Given the description of an element on the screen output the (x, y) to click on. 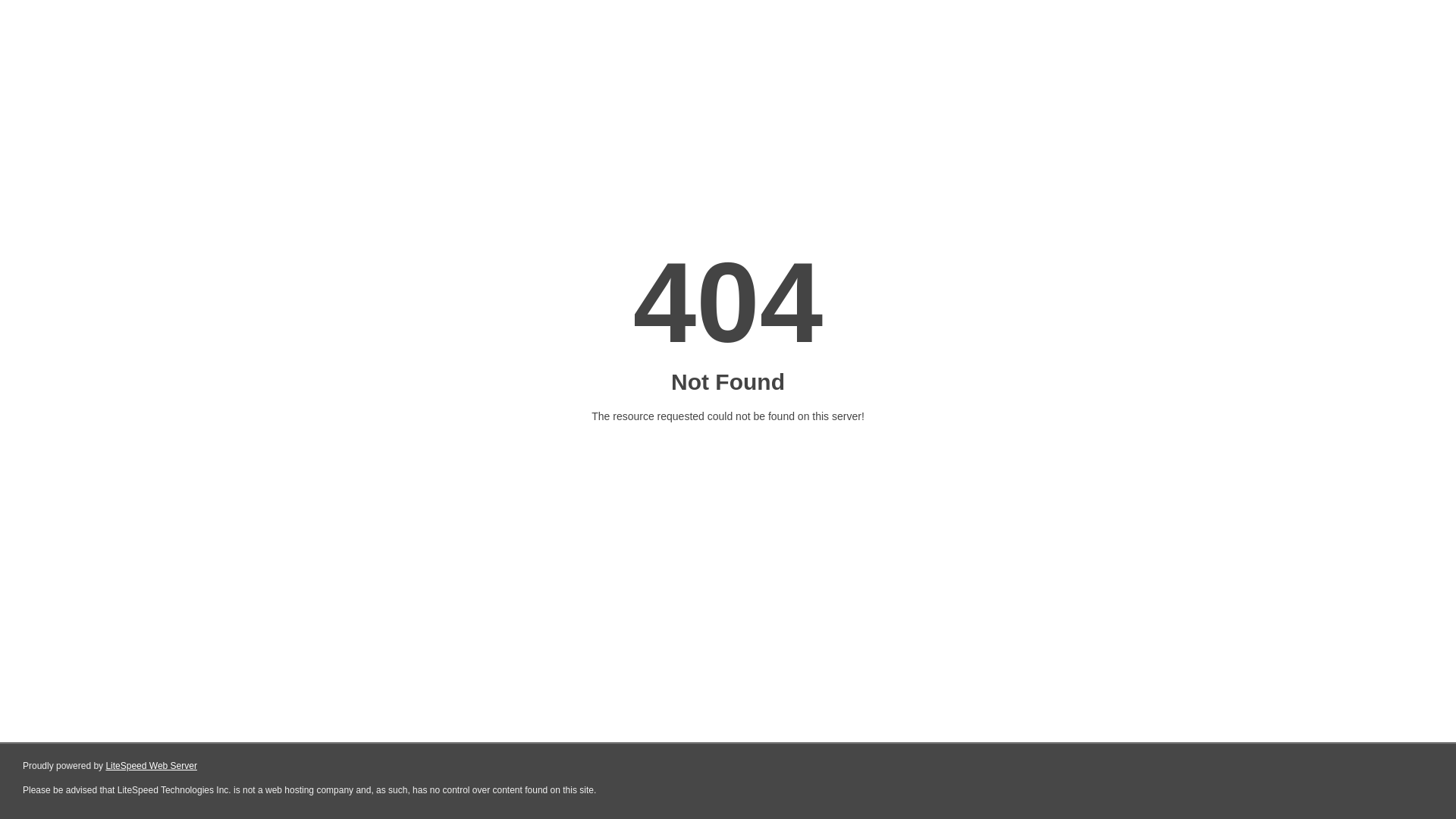
LiteSpeed Web Server Element type: text (151, 765)
